Given the description of an element on the screen output the (x, y) to click on. 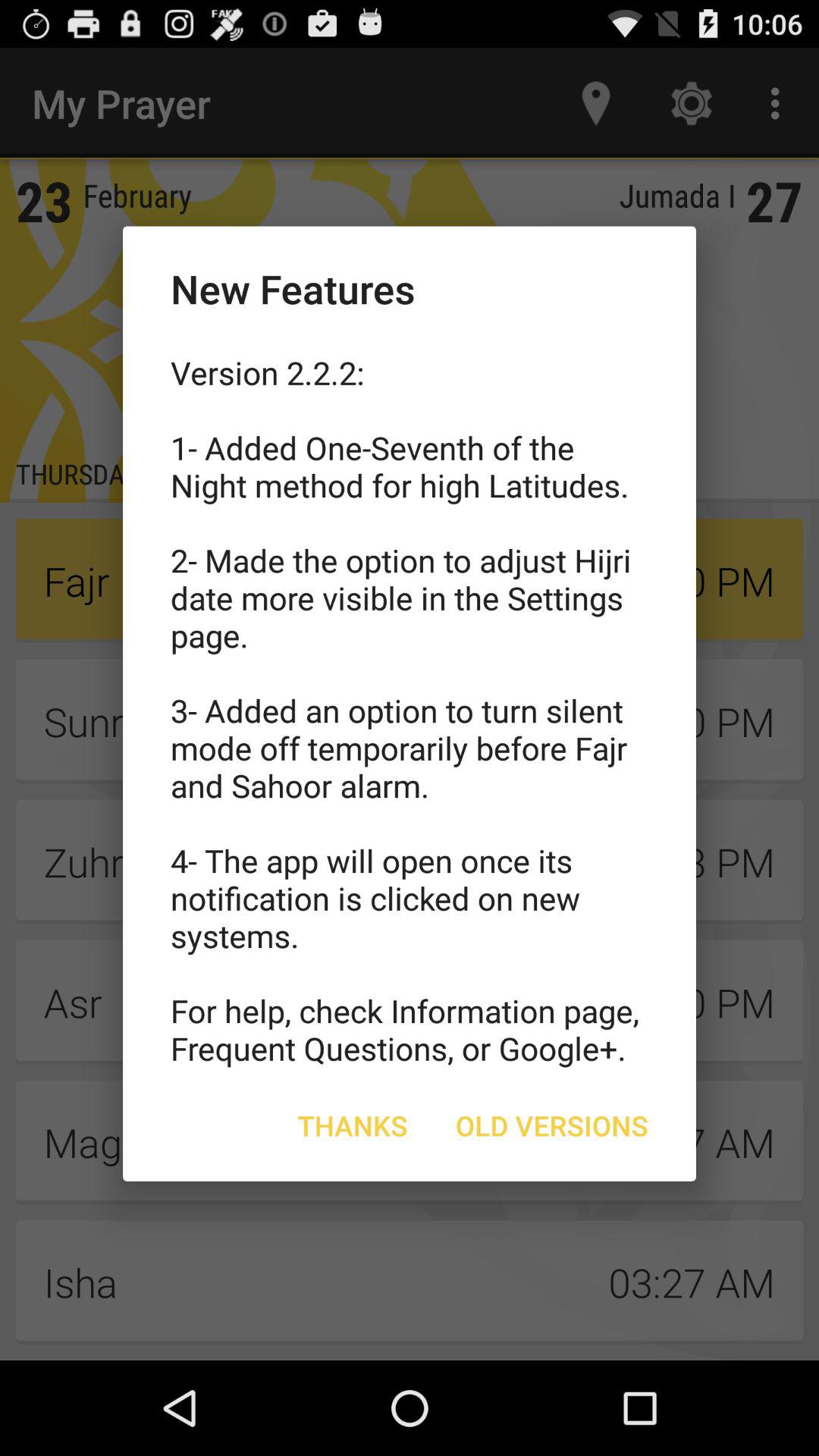
choose icon to the left of old versions icon (352, 1125)
